Given the description of an element on the screen output the (x, y) to click on. 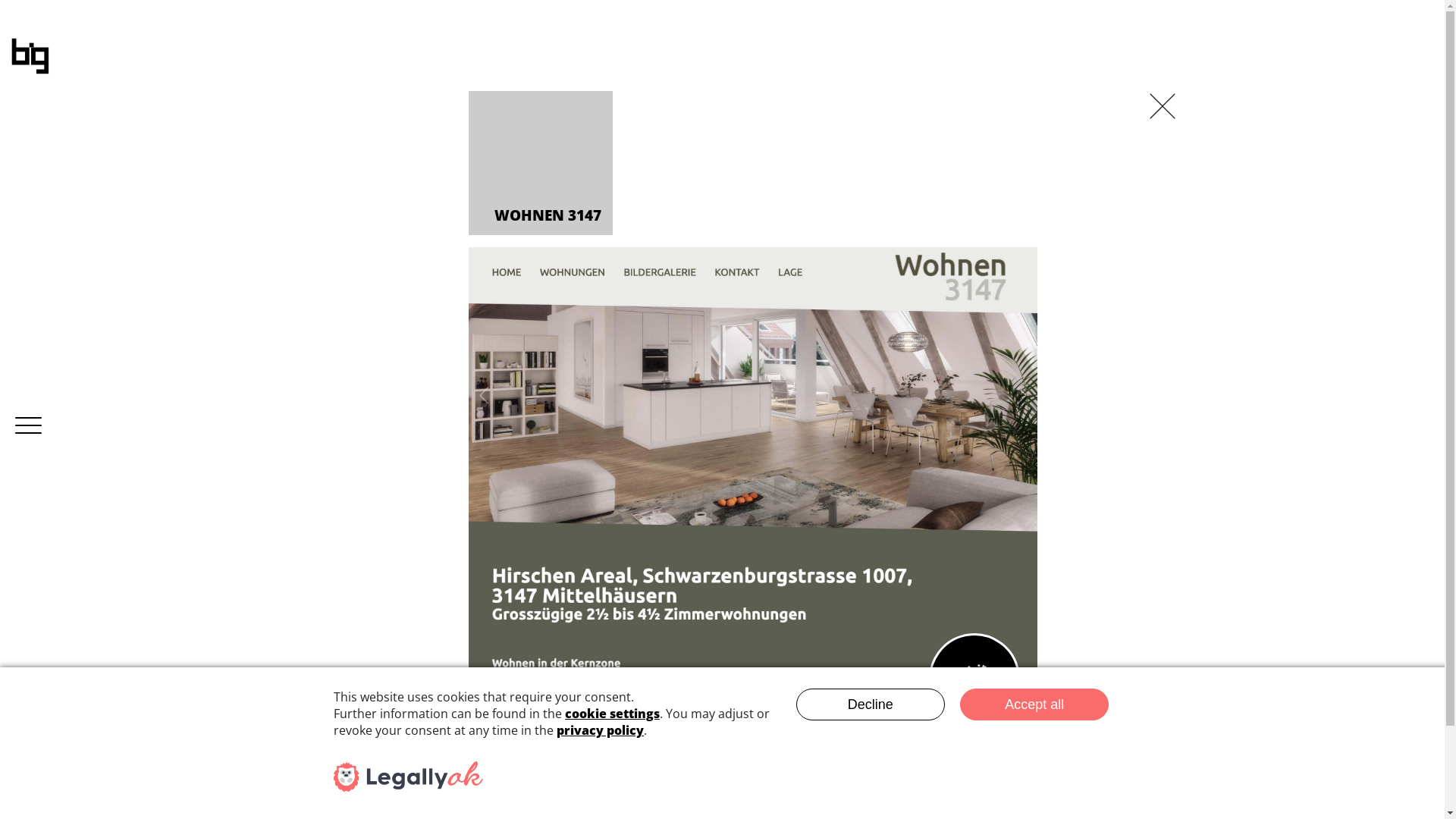
Kulturschopf Feldbach Element type: text (538, 748)
mellow Element type: text (642, 748)
website Element type: text (752, 429)
